Given the description of an element on the screen output the (x, y) to click on. 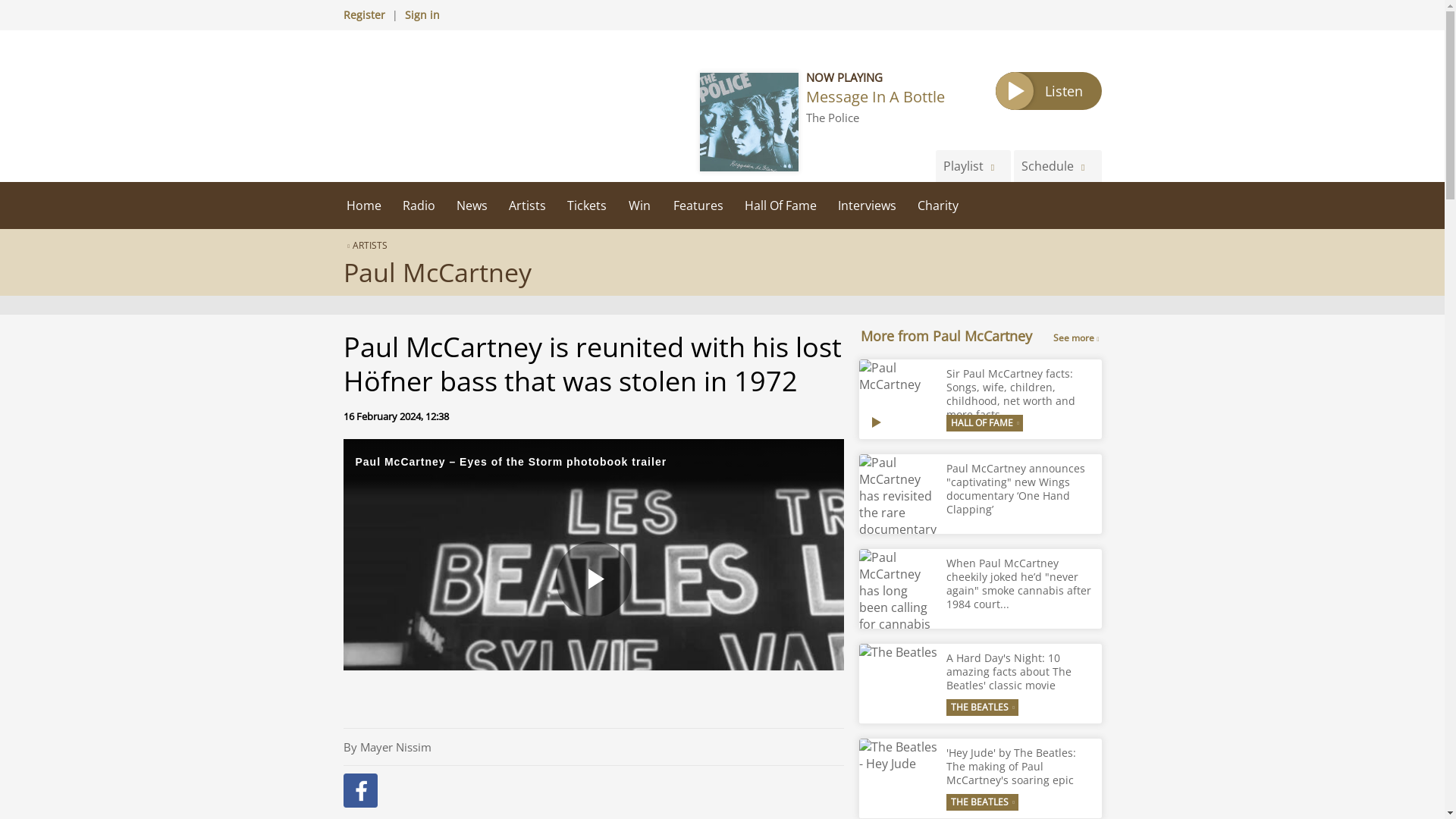
Sign in (421, 14)
Charity (938, 205)
Interviews (866, 205)
Features (697, 205)
Tickets (586, 205)
Playlist (973, 165)
Radio (418, 205)
Register (363, 14)
Home (362, 205)
News (471, 205)
